Given the description of an element on the screen output the (x, y) to click on. 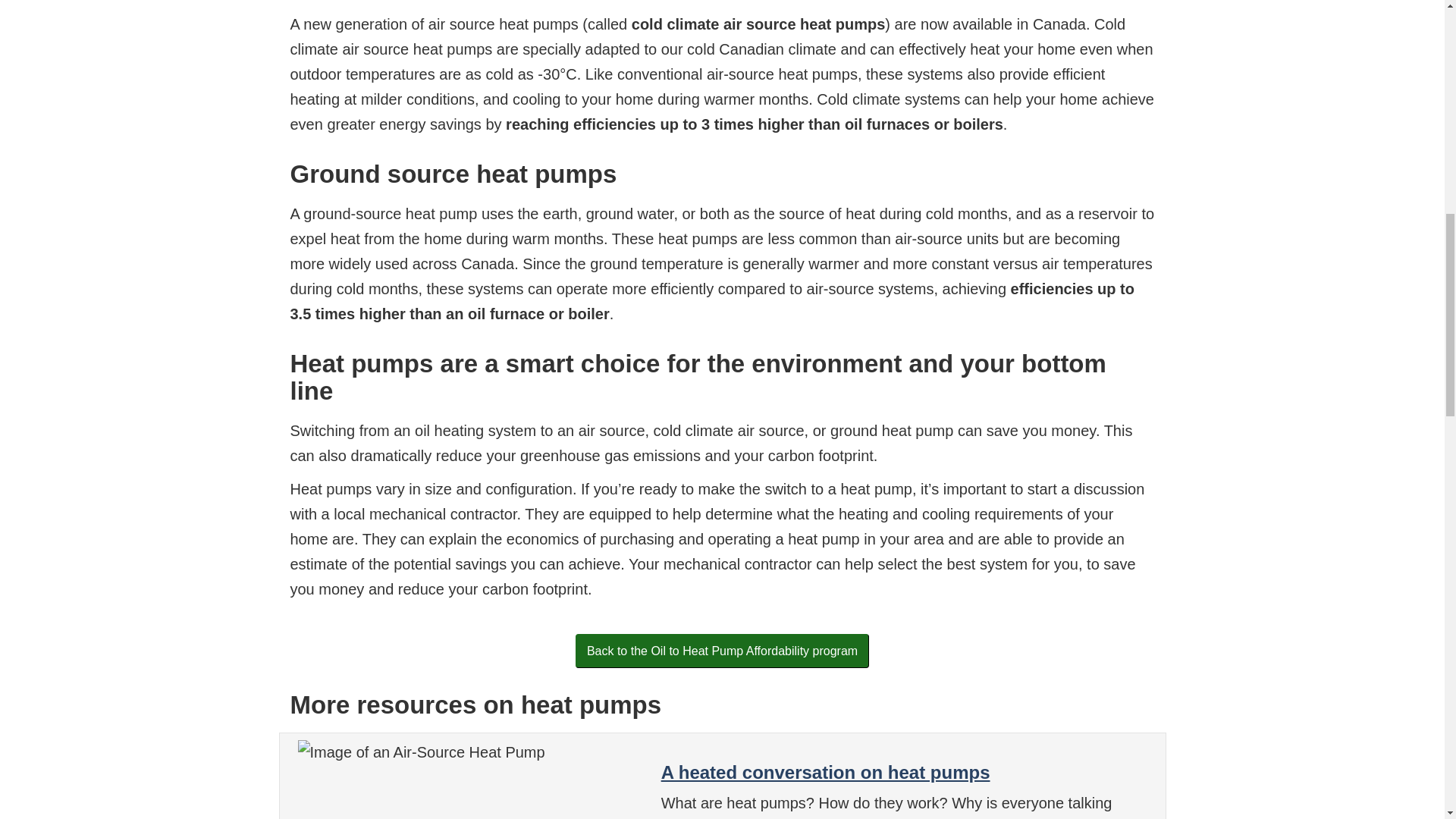
Back to the Oil to Heat Pump Affordability program (722, 650)
A heated conversation on heat pumps (825, 772)
